Given the description of an element on the screen output the (x, y) to click on. 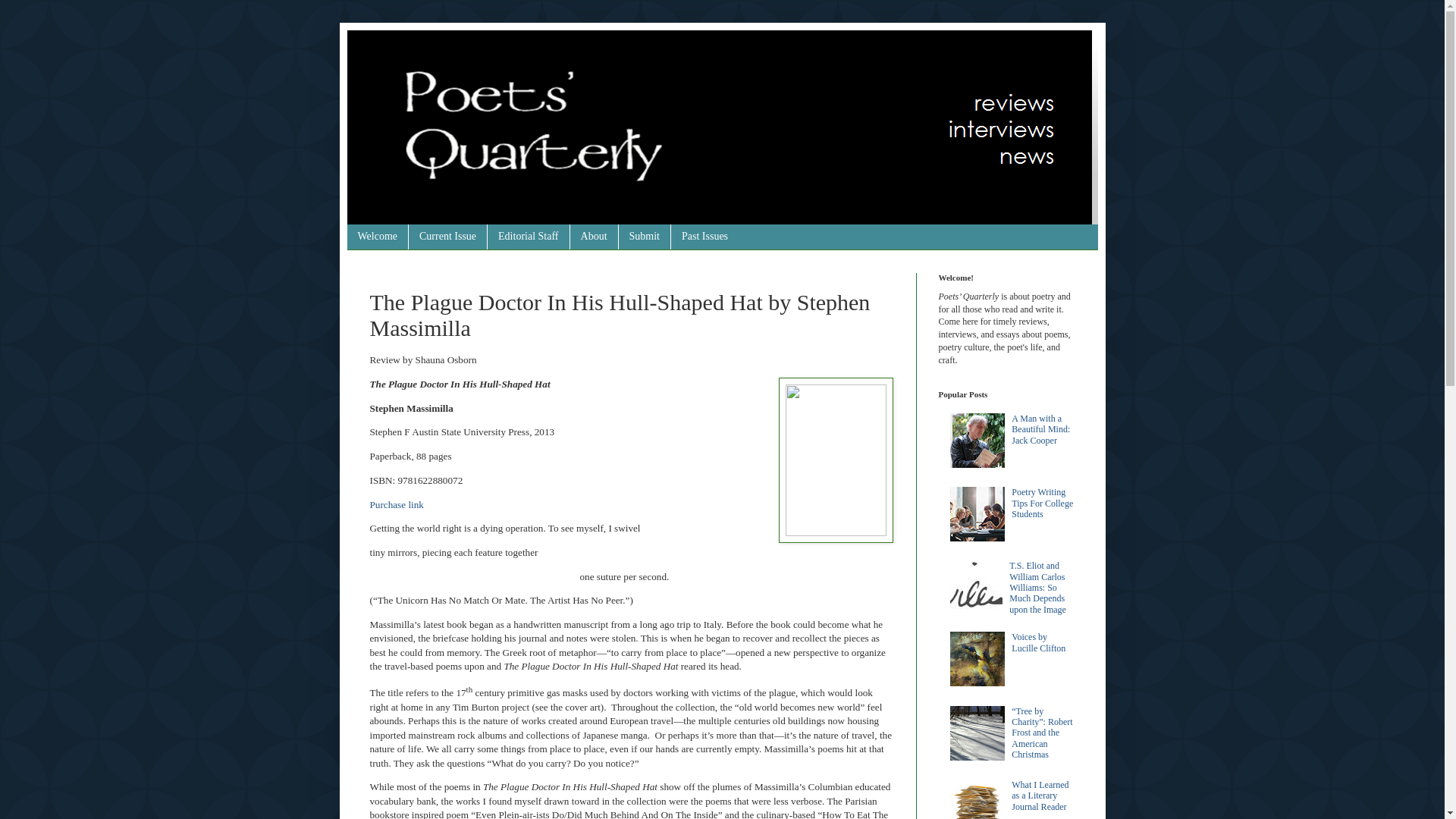
Poetry Writing Tips For College Students (1042, 502)
A Man with a Beautiful Mind: Jack Cooper (1040, 429)
What I Learned as a Literary Journal Reader (1039, 795)
Welcome (378, 236)
Editorial Staff (527, 236)
Current Issue (446, 236)
Voices by Lucille Clifton (1038, 641)
Submit (643, 236)
About (593, 236)
Past Issues (703, 236)
